Given the description of an element on the screen output the (x, y) to click on. 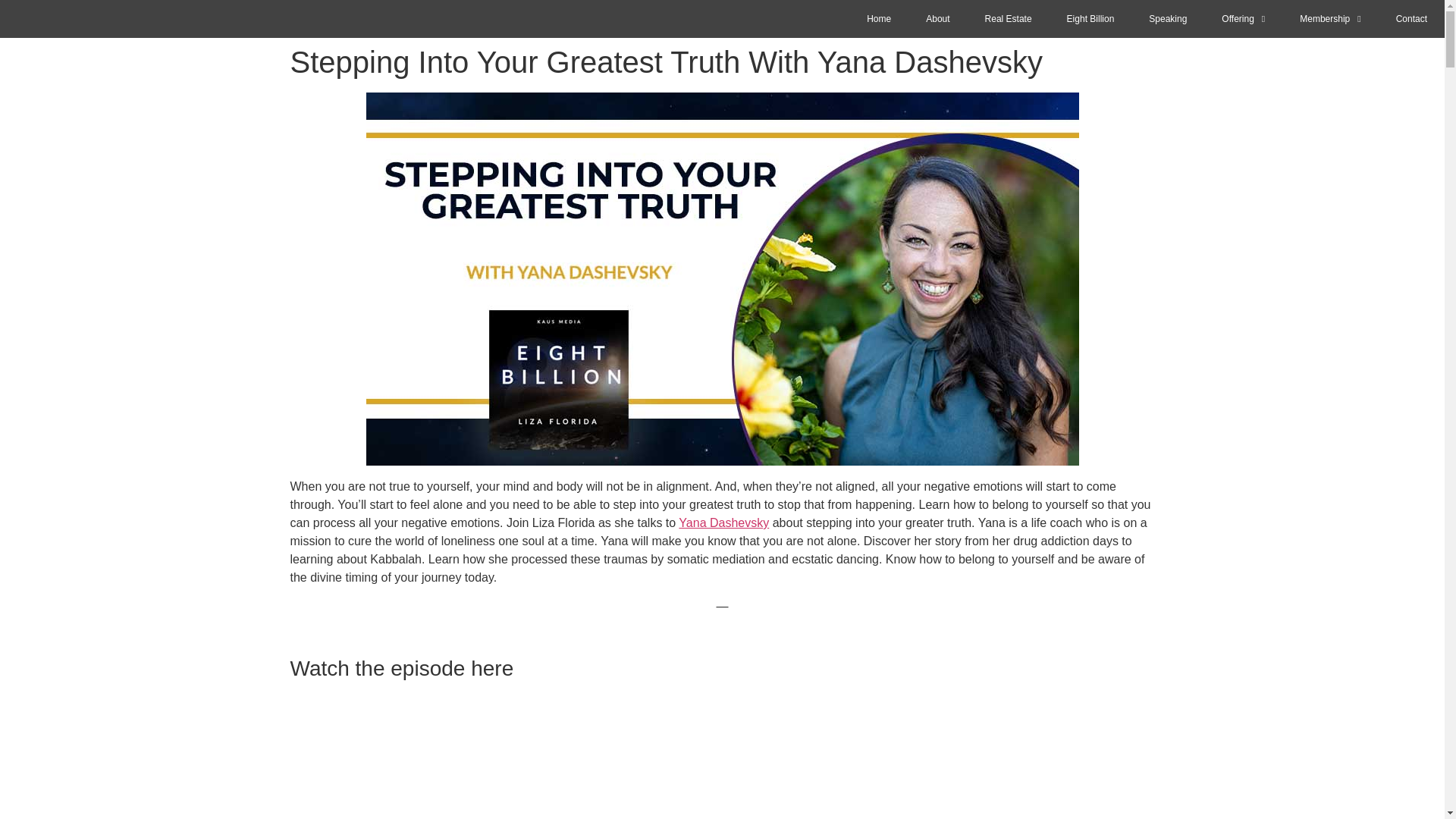
Real Estate (1008, 18)
Contact (1411, 18)
Offering (1243, 18)
Eight Billion (1090, 18)
Membership (1330, 18)
Home (879, 18)
YouTube video player (721, 756)
Speaking (1167, 18)
About (937, 18)
Yana Dashevsky (723, 522)
